Given the description of an element on the screen output the (x, y) to click on. 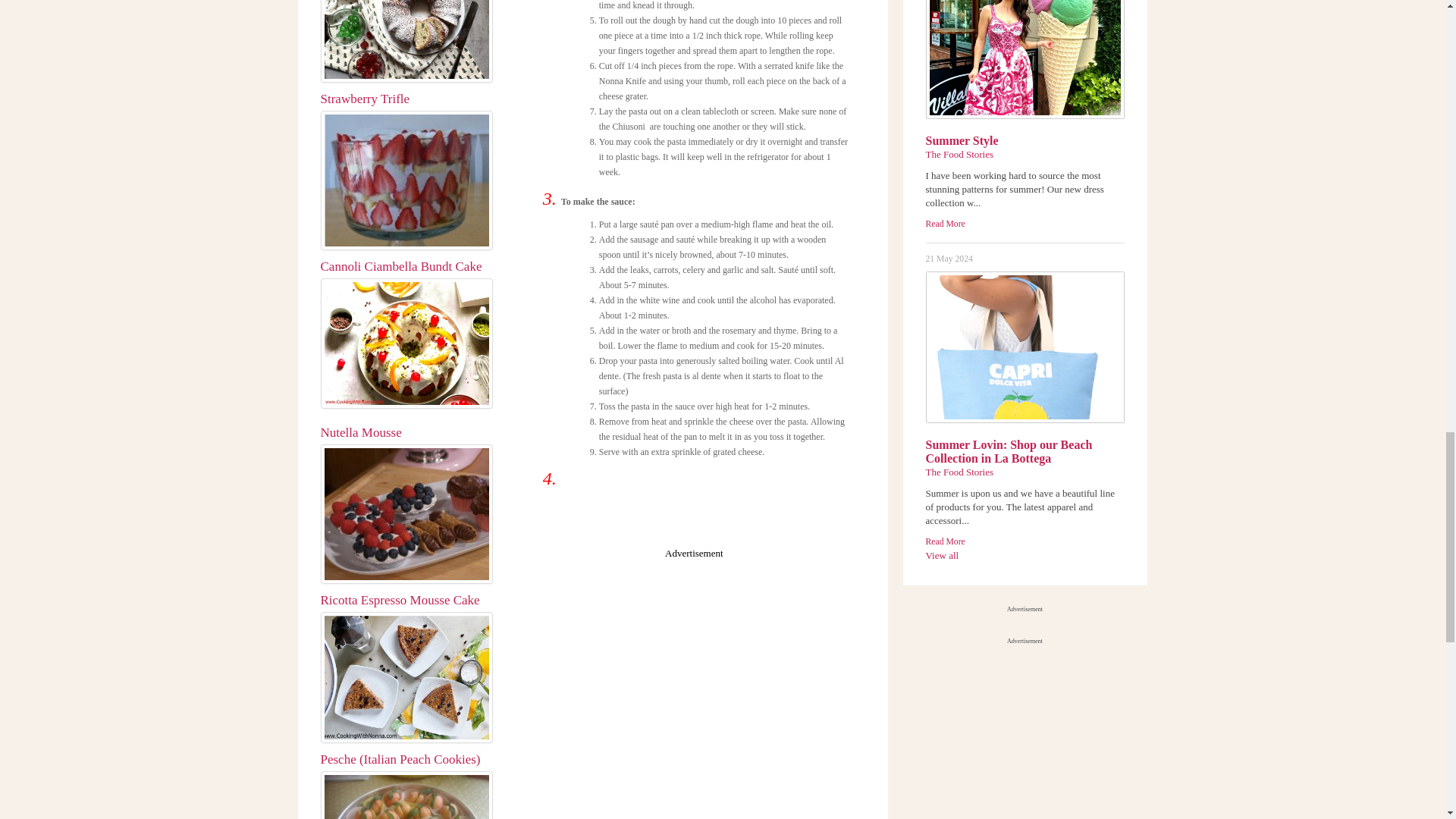
Ricotta Espresso Mousse Cake (406, 676)
Strawberry Trifle (406, 180)
Nutella Mousse (406, 513)
Cannoli Ciambella Bundt Cake (406, 343)
Ciambellone (406, 41)
